Given the description of an element on the screen output the (x, y) to click on. 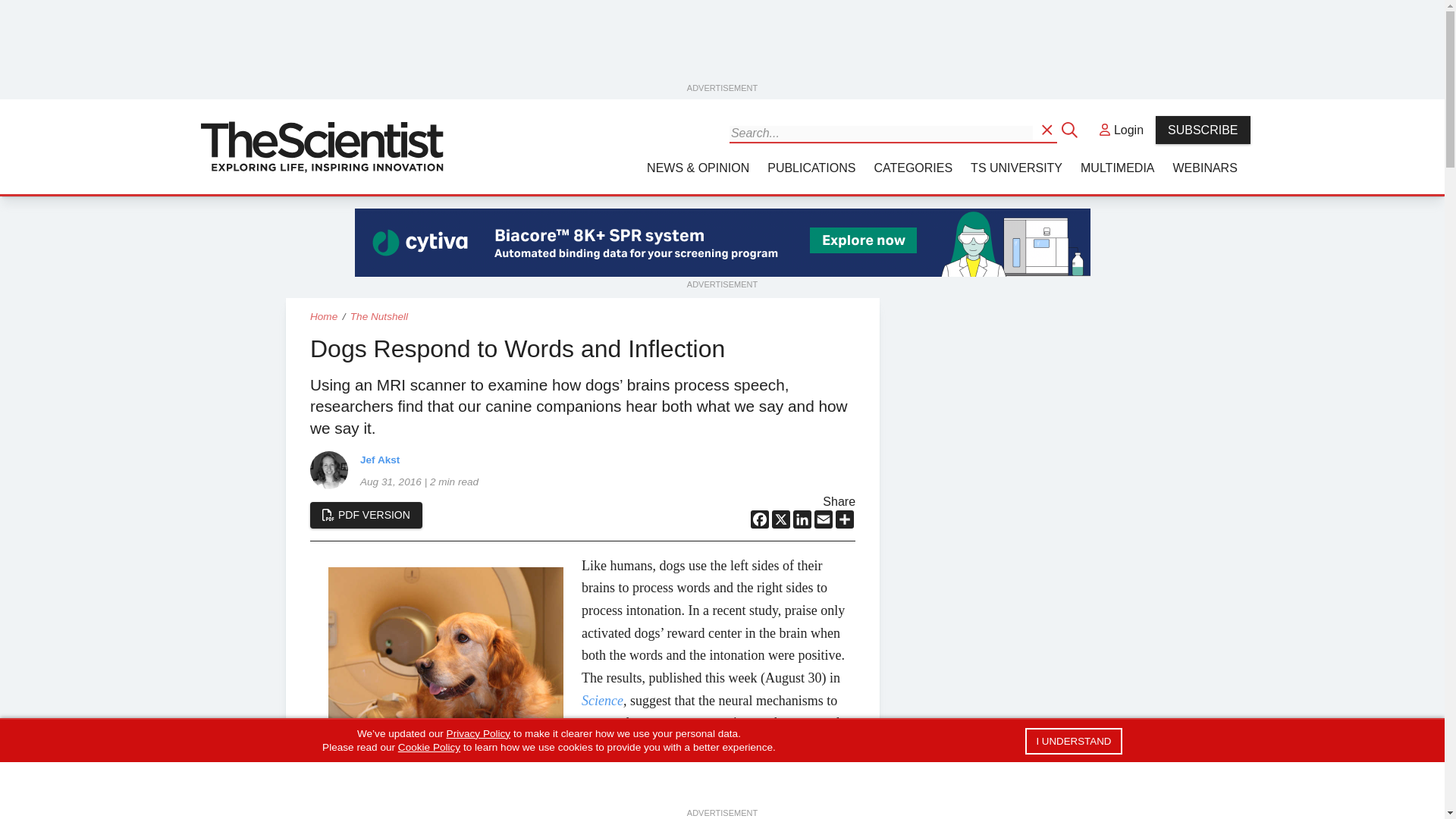
3rd party ad content (722, 46)
Open Search (1049, 129)
Close Search (1071, 129)
Jef Akst (328, 469)
3rd party ad content (722, 242)
